Given the description of an element on the screen output the (x, y) to click on. 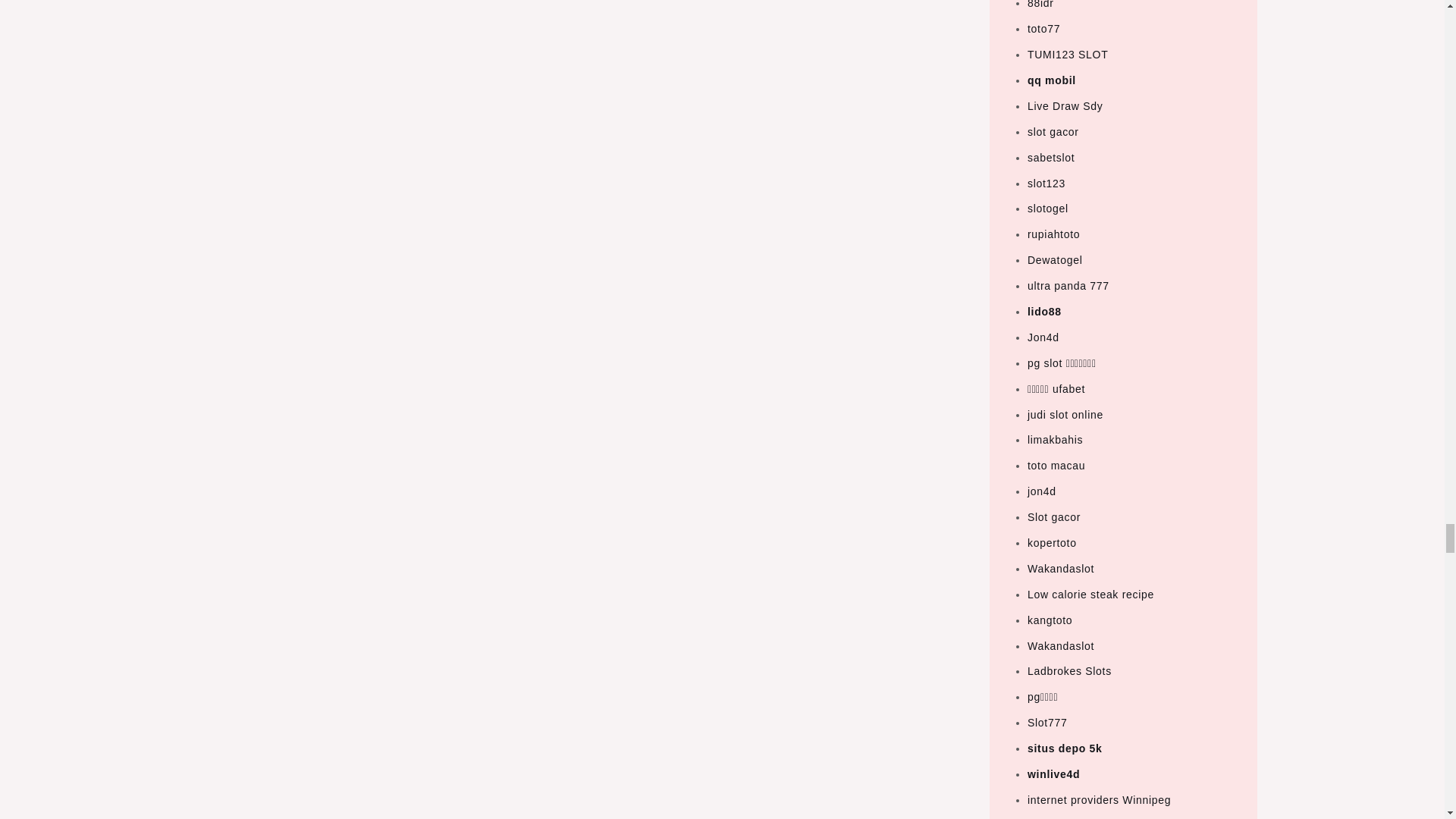
limakbahis (1055, 439)
